Given the description of an element on the screen output the (x, y) to click on. 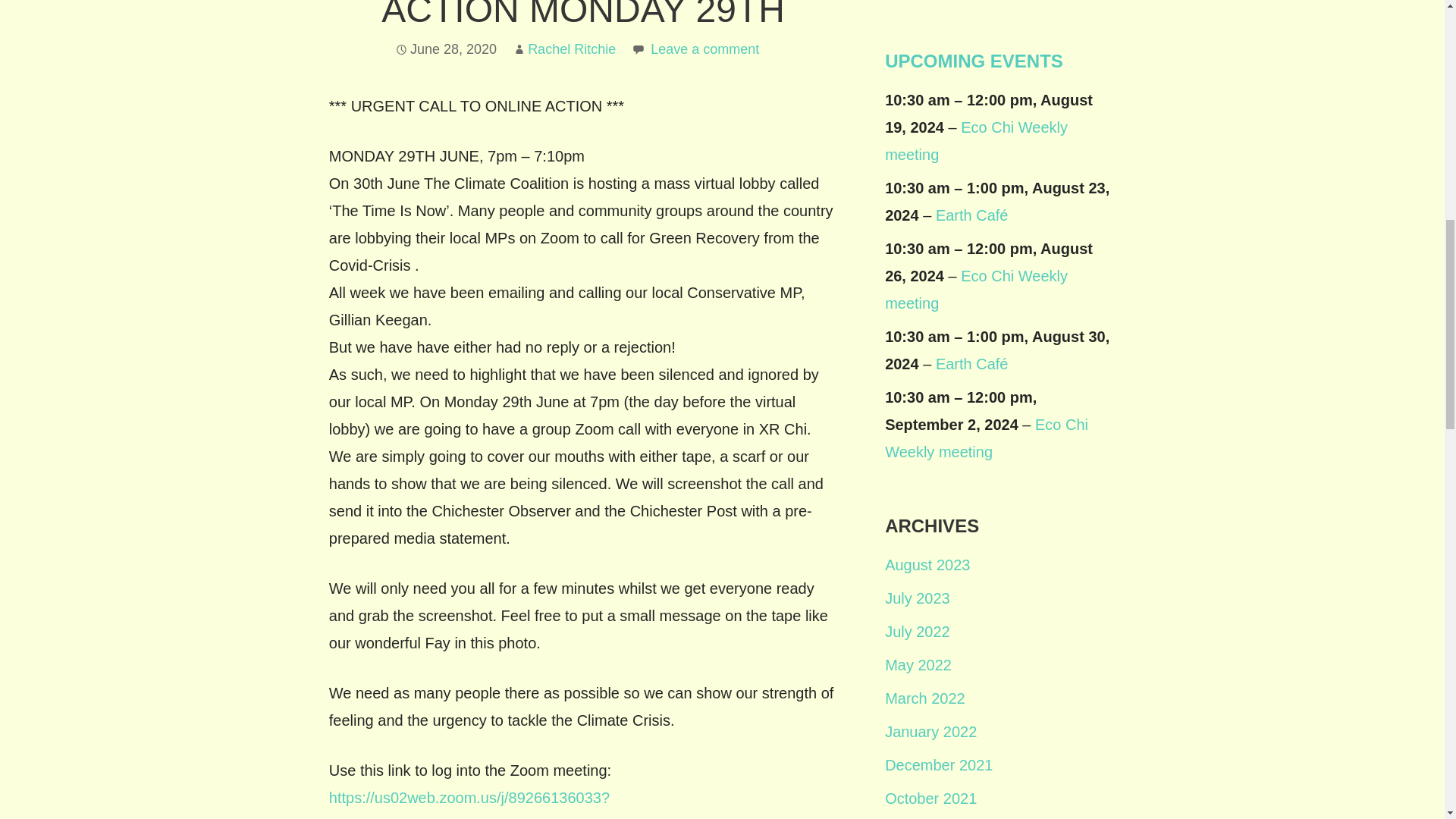
August 2023 (927, 564)
UPCOMING EVENTS (973, 60)
Eco Chi Weekly meeting (986, 438)
Posts by Rachel Ritchie (571, 48)
Rachel Ritchie (571, 48)
Eco Chi Weekly meeting (976, 289)
Leave a comment (704, 48)
Eco Chi Weekly meeting (976, 140)
